Given the description of an element on the screen output the (x, y) to click on. 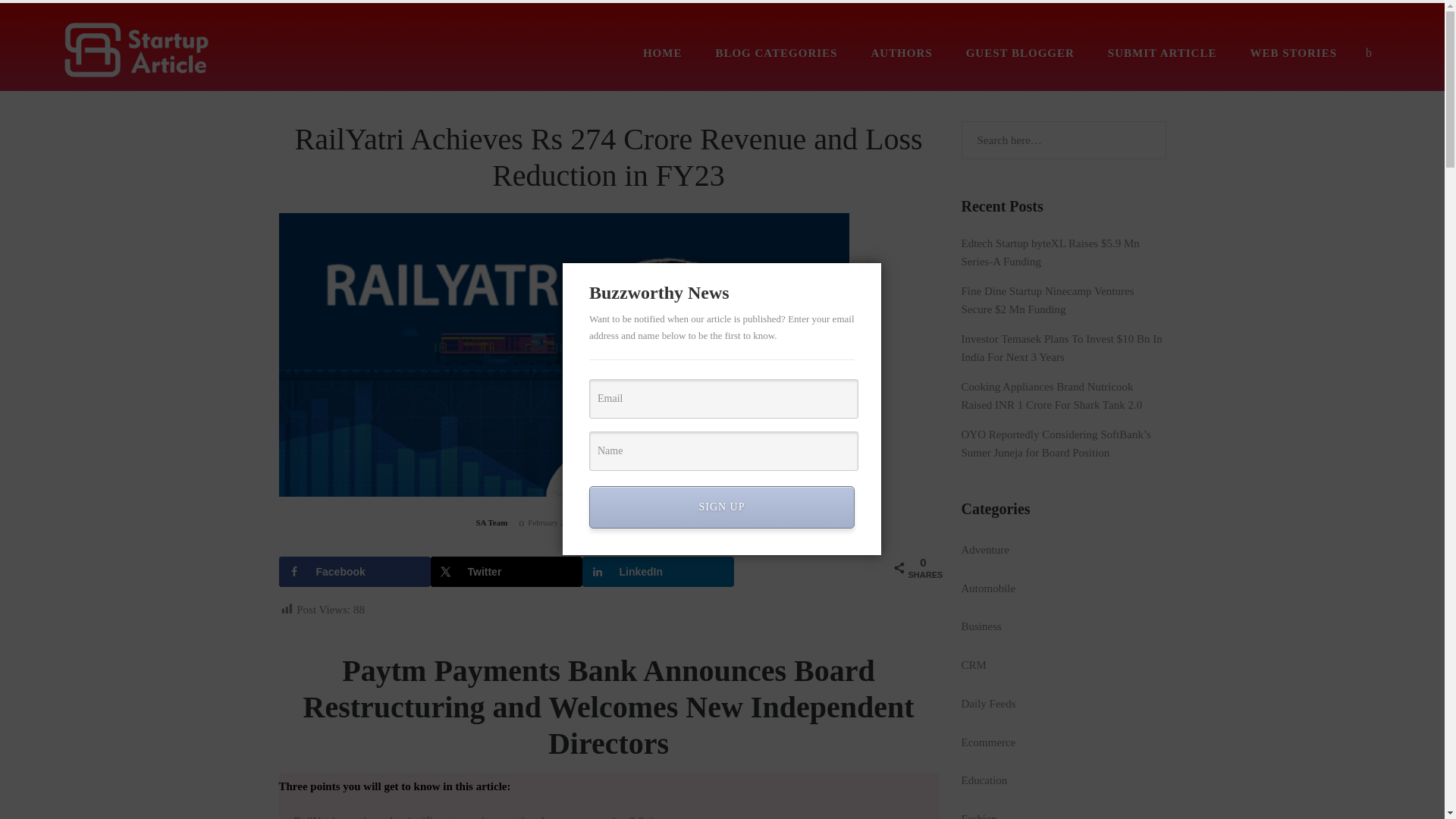
Share on X (506, 571)
Name (724, 450)
GUEST BLOGGER (1019, 52)
HOME (662, 52)
Search for: (1063, 139)
Share on Facebook (354, 571)
Email (724, 398)
AUTHORS (900, 52)
WEB STORIES (1292, 52)
Share on LinkedIn (657, 571)
SUBMIT ARTICLE (1162, 52)
BLOG CATEGORIES (775, 52)
